Given the description of an element on the screen output the (x, y) to click on. 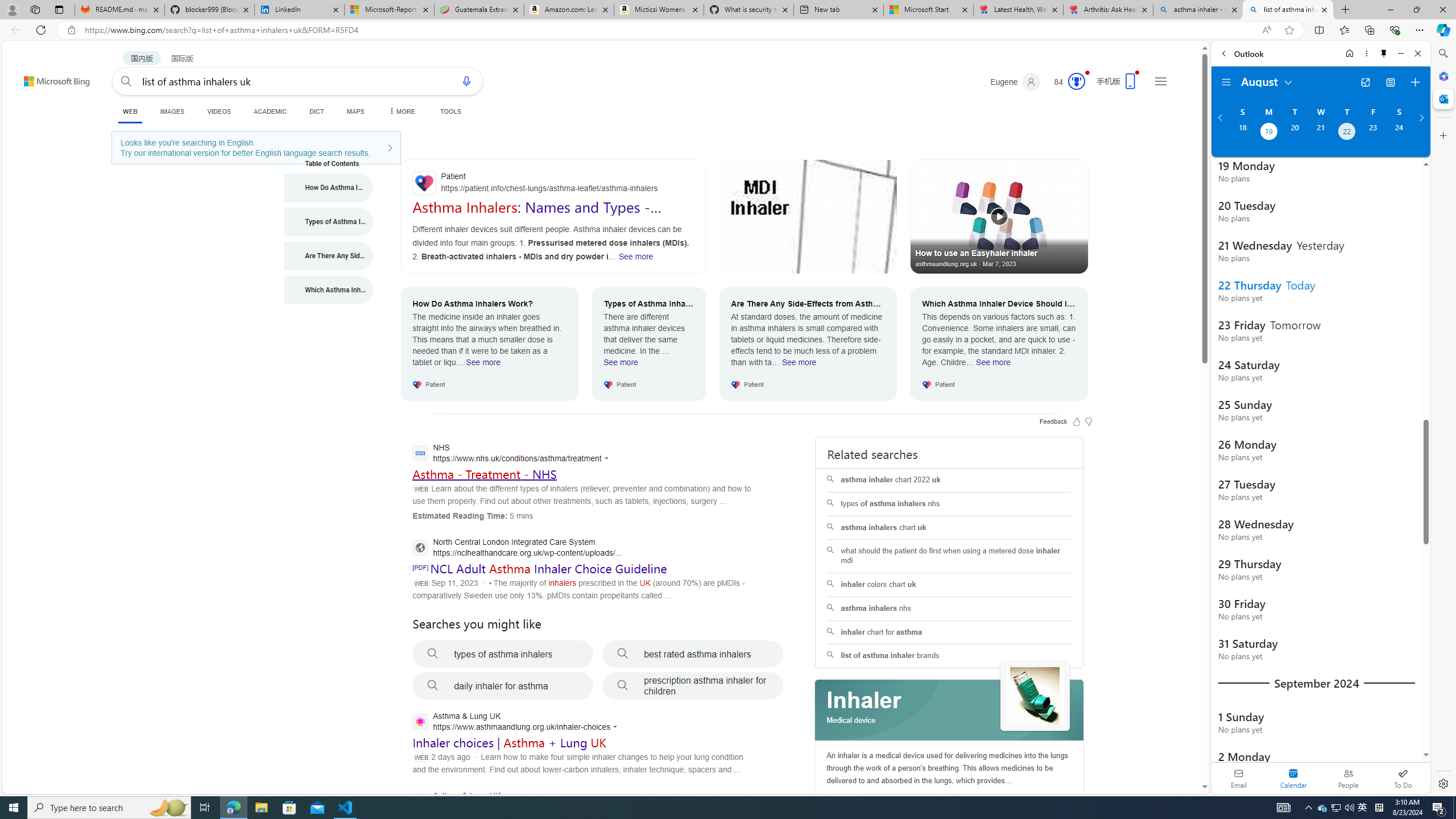
WEB (129, 111)
How to use an Easyhaler inhaler (999, 216)
View Switcher. Current view is Agenda view (1390, 82)
Asthma Inhalers: Names and Types - Patient (536, 214)
North Central London Integrated Care System (516, 549)
How Do Asthma Inhalers Work? (328, 187)
asthma inhalers nhs (949, 608)
Search button (126, 80)
Tuesday, August 20, 2024.  (1294, 132)
Patient (553, 182)
Class: spl_logobg (949, 710)
types of asthma inhalers nhs (949, 503)
